Given the description of an element on the screen output the (x, y) to click on. 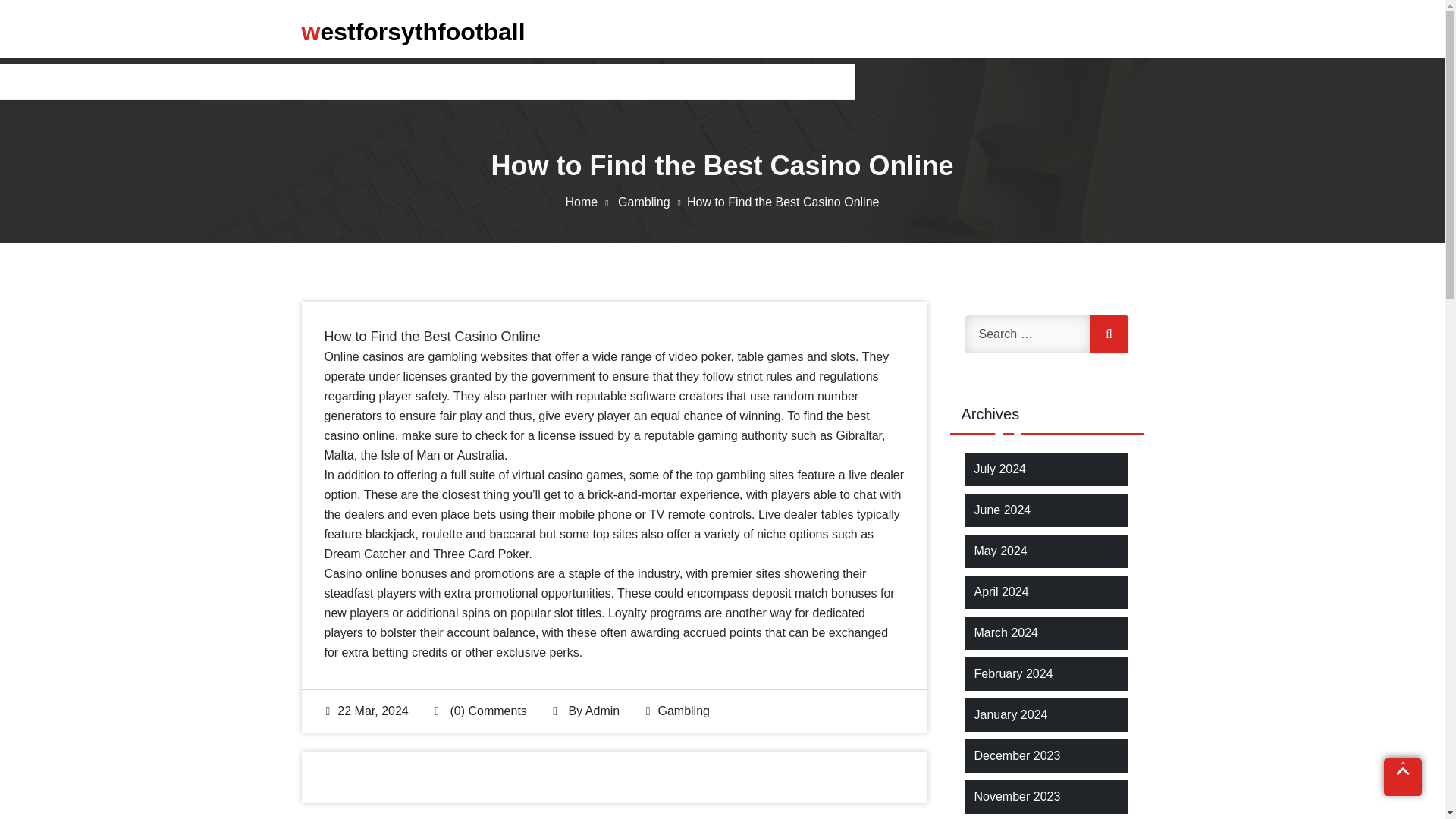
November 2023 (1016, 796)
March 2024 (1006, 633)
June 2024 (1002, 510)
Gambling (652, 201)
Gambling (683, 710)
December 2023 (1016, 755)
April 2024 (1000, 592)
22 Mar, 2024 (367, 710)
Admin (602, 710)
westforsythfootball (413, 31)
January 2024 (1010, 714)
February 2024 (1013, 674)
Home (590, 201)
May 2024 (1000, 551)
July 2024 (1000, 469)
